Given the description of an element on the screen output the (x, y) to click on. 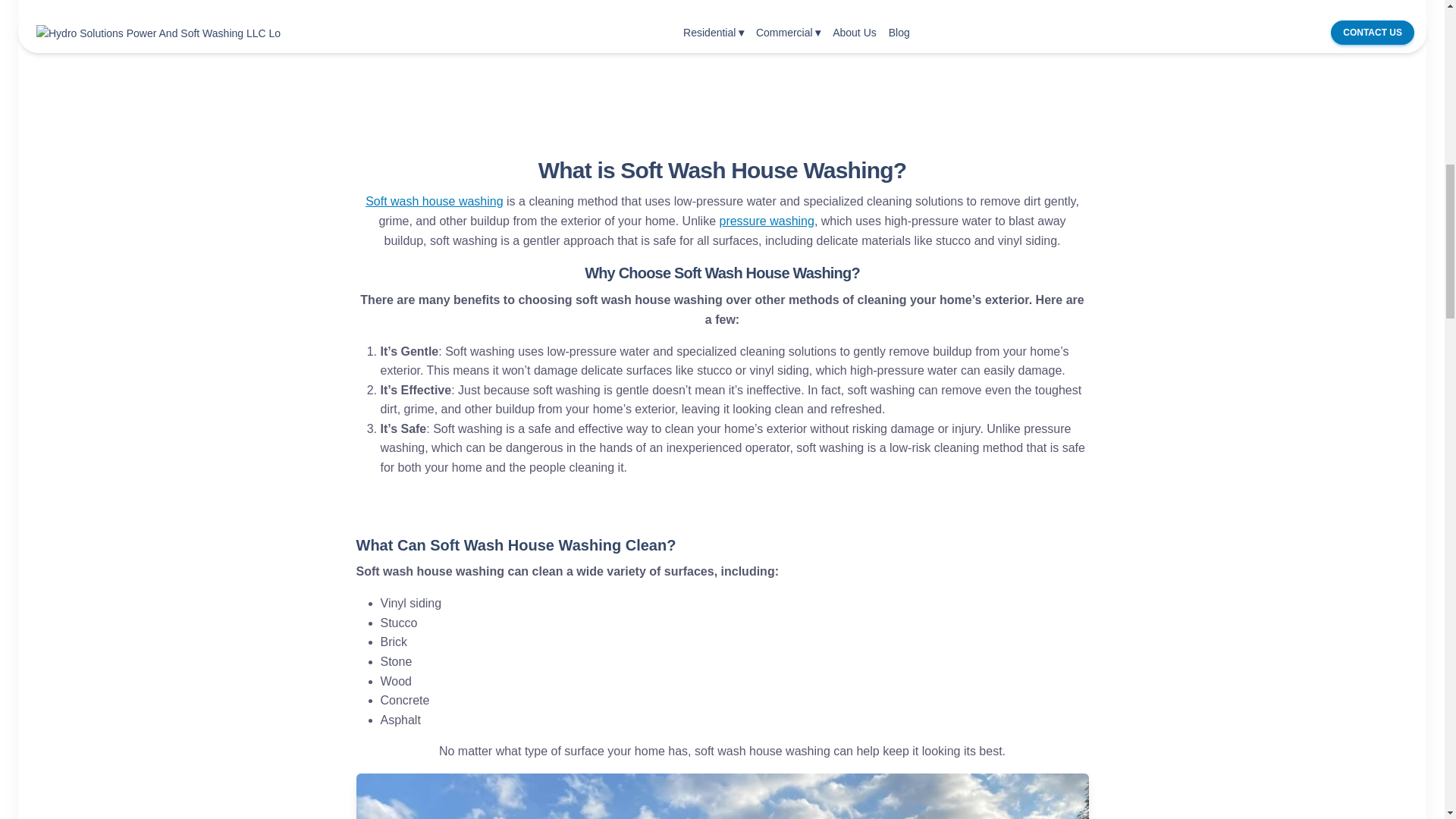
pressure washing (766, 220)
YouTube video player (722, 54)
Soft wash house washing (433, 201)
